Given the description of an element on the screen output the (x, y) to click on. 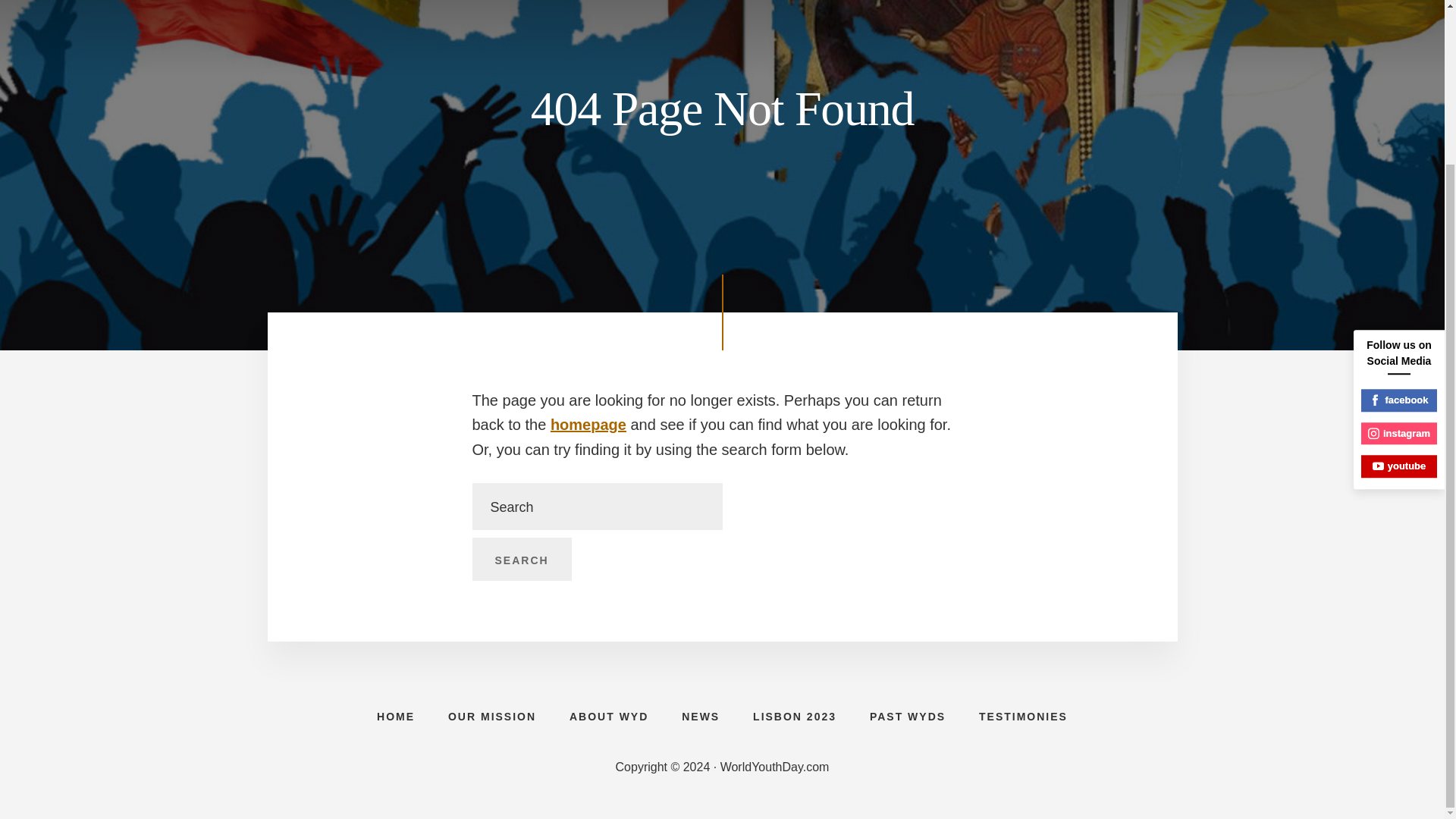
Search (520, 559)
PAST WYDS (907, 716)
OUR MISSION (491, 716)
facebook (1399, 204)
NEWS (700, 716)
youtube (1399, 270)
ABOUT WYD (608, 716)
TESTIMONIES (1023, 716)
Search (520, 559)
Search (520, 559)
LISBON 2023 (794, 716)
instagram (1399, 237)
HOME (395, 716)
homepage (588, 424)
